Given the description of an element on the screen output the (x, y) to click on. 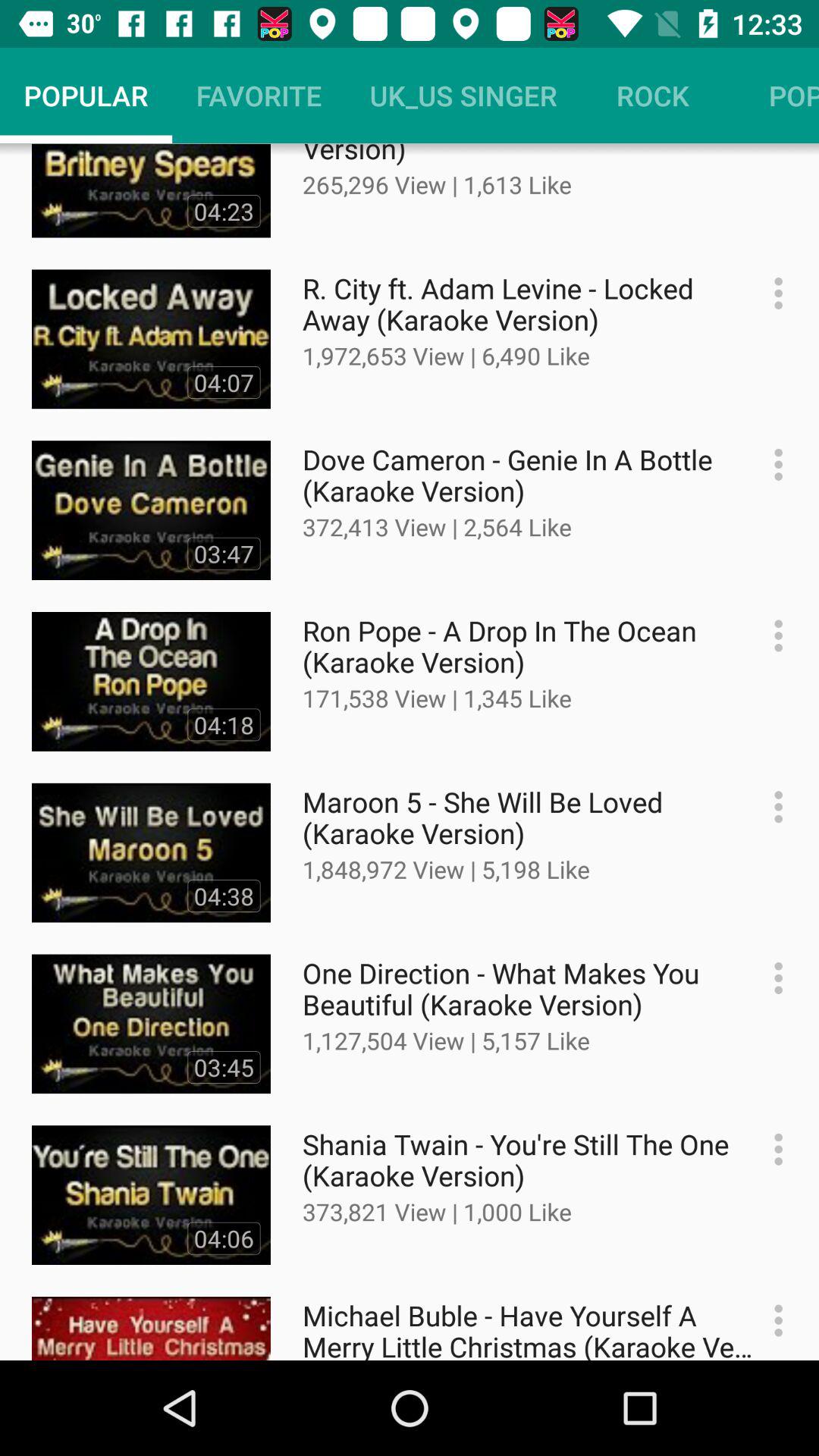
get more information about the video (770, 1149)
